Given the description of an element on the screen output the (x, y) to click on. 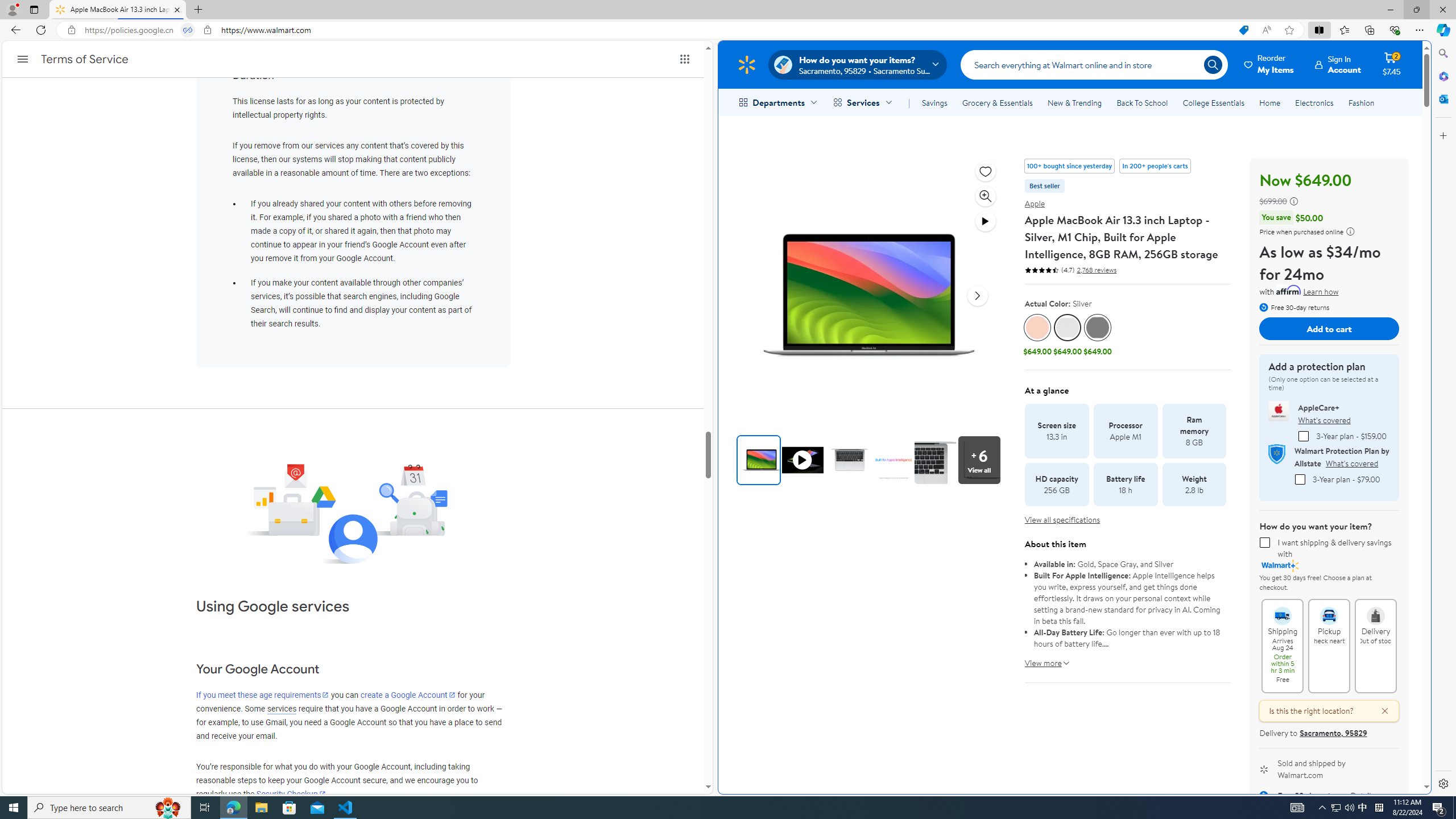
Savings (933, 102)
Close Search pane (1442, 53)
Pickup Check nearby Pickup Check nearby (1329, 645)
Electronics (1314, 102)
Close question (1379, 711)
Gold Gold, $649.00 (1037, 335)
Silver selected, Silver, $649.00 (1067, 335)
